Given the description of an element on the screen output the (x, y) to click on. 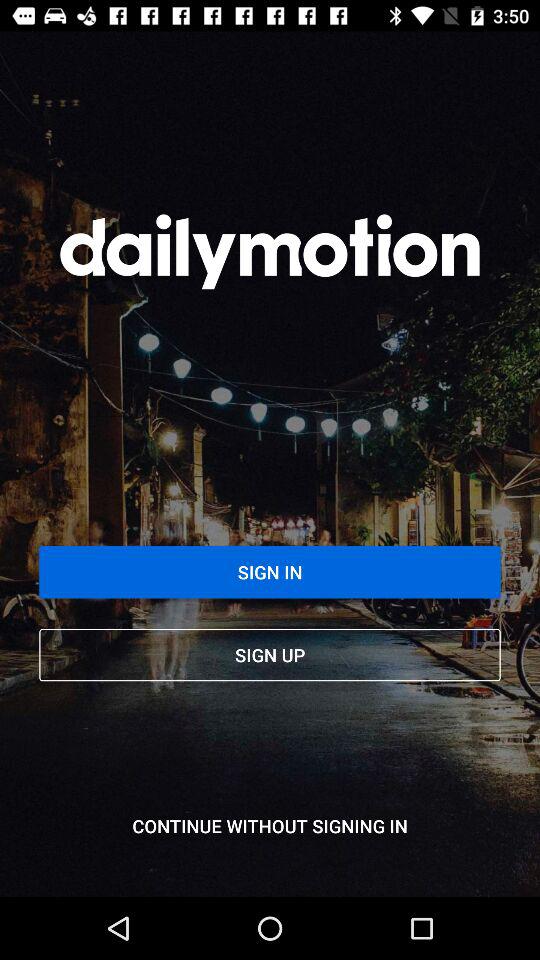
jump to sign in icon (269, 571)
